Given the description of an element on the screen output the (x, y) to click on. 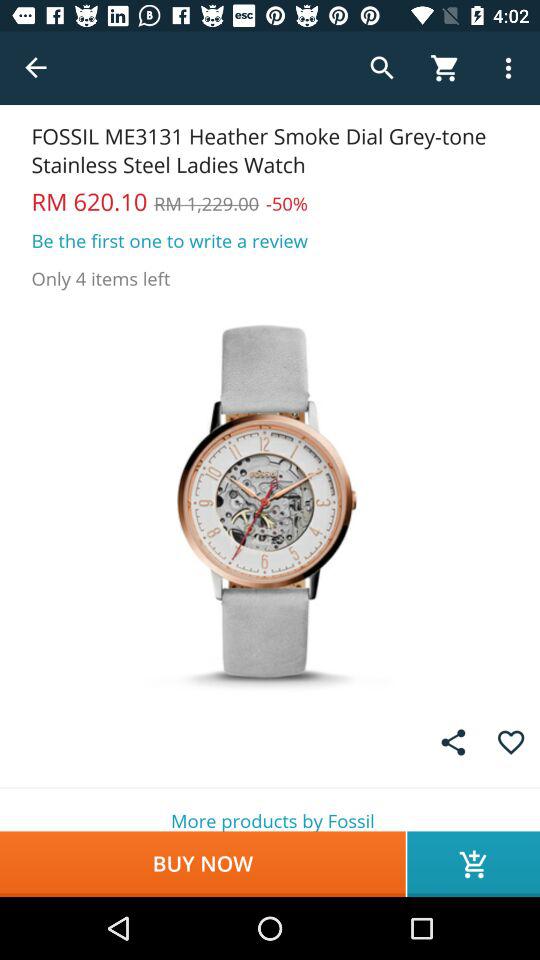
choose item below the only 4 items item (269, 500)
